Given the description of an element on the screen output the (x, y) to click on. 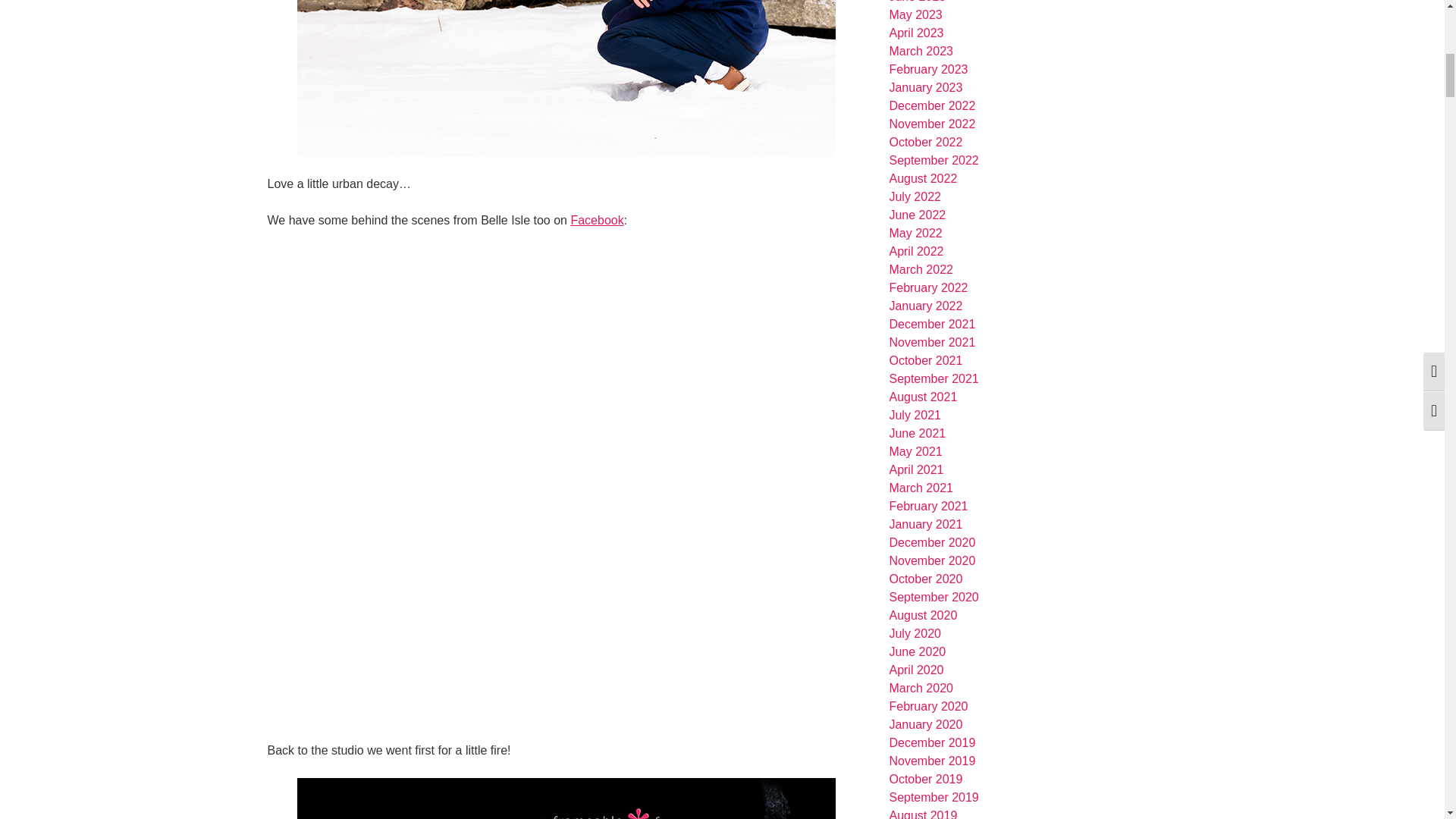
Facebook (596, 219)
